Given the description of an element on the screen output the (x, y) to click on. 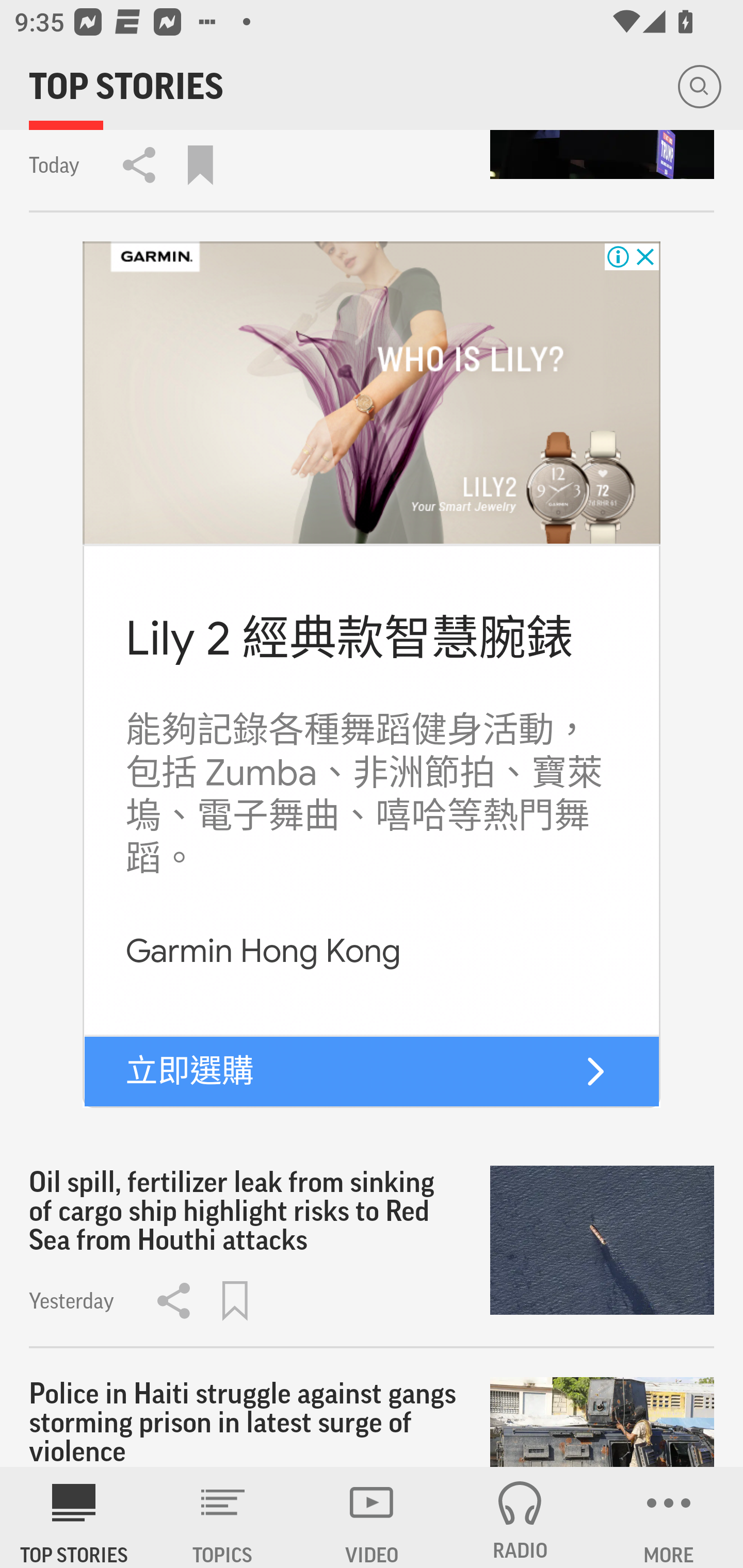
lily2-classic-gold-tan (371, 392)
Lily 2 經典款智慧腕錶 (348, 638)
Garmin Hong Kong (262, 951)
lily2-classic-gold-tan (594, 1070)
立即選購 (189, 1070)
AP News TOP STORIES (74, 1517)
TOPICS (222, 1517)
VIDEO (371, 1517)
RADIO (519, 1517)
MORE (668, 1517)
